Given the description of an element on the screen output the (x, y) to click on. 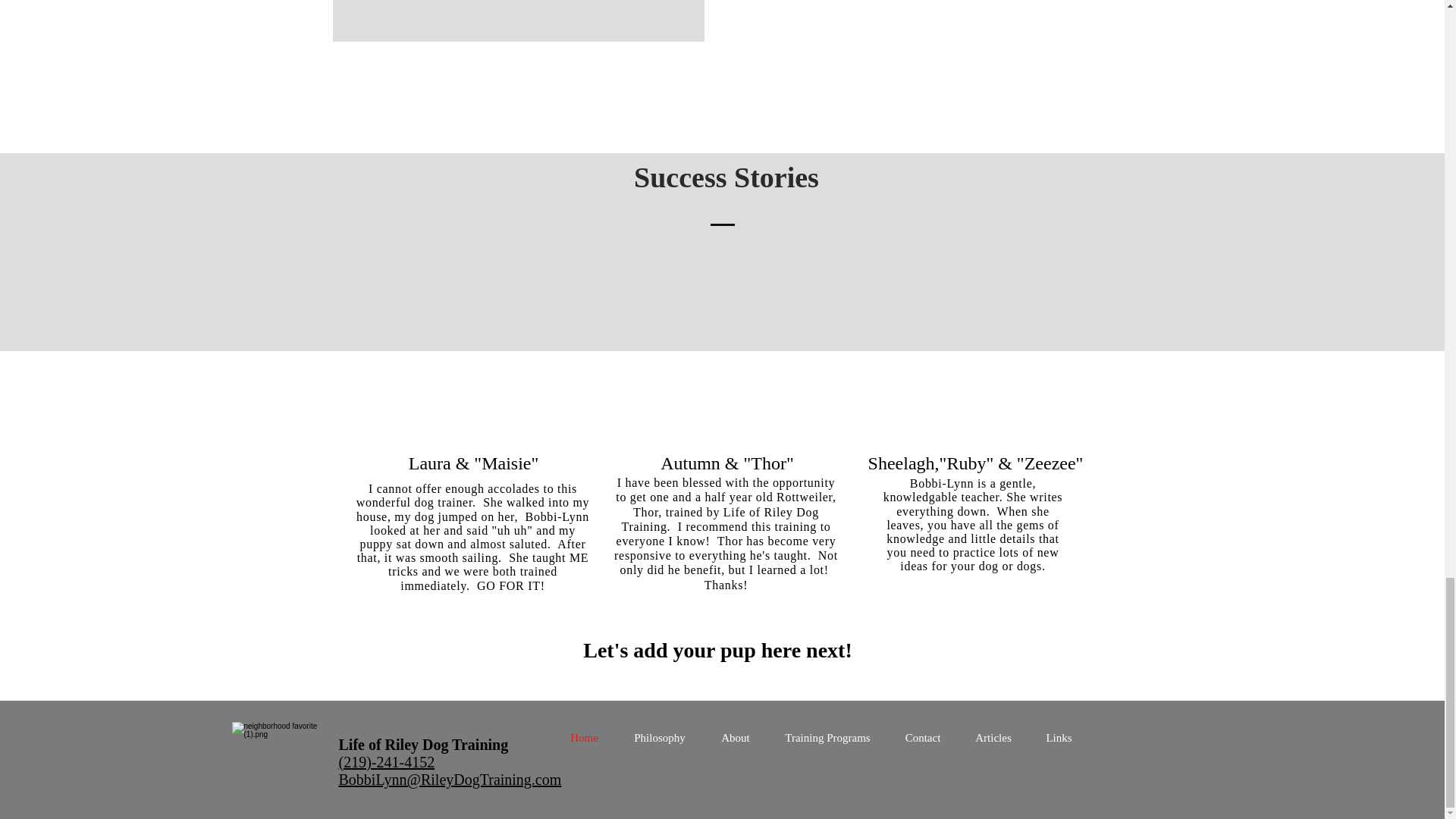
Contact (922, 737)
Links (1058, 737)
Home (583, 737)
Philosophy (659, 737)
Training Programs (826, 737)
Articles (993, 737)
About (735, 737)
